Given the description of an element on the screen output the (x, y) to click on. 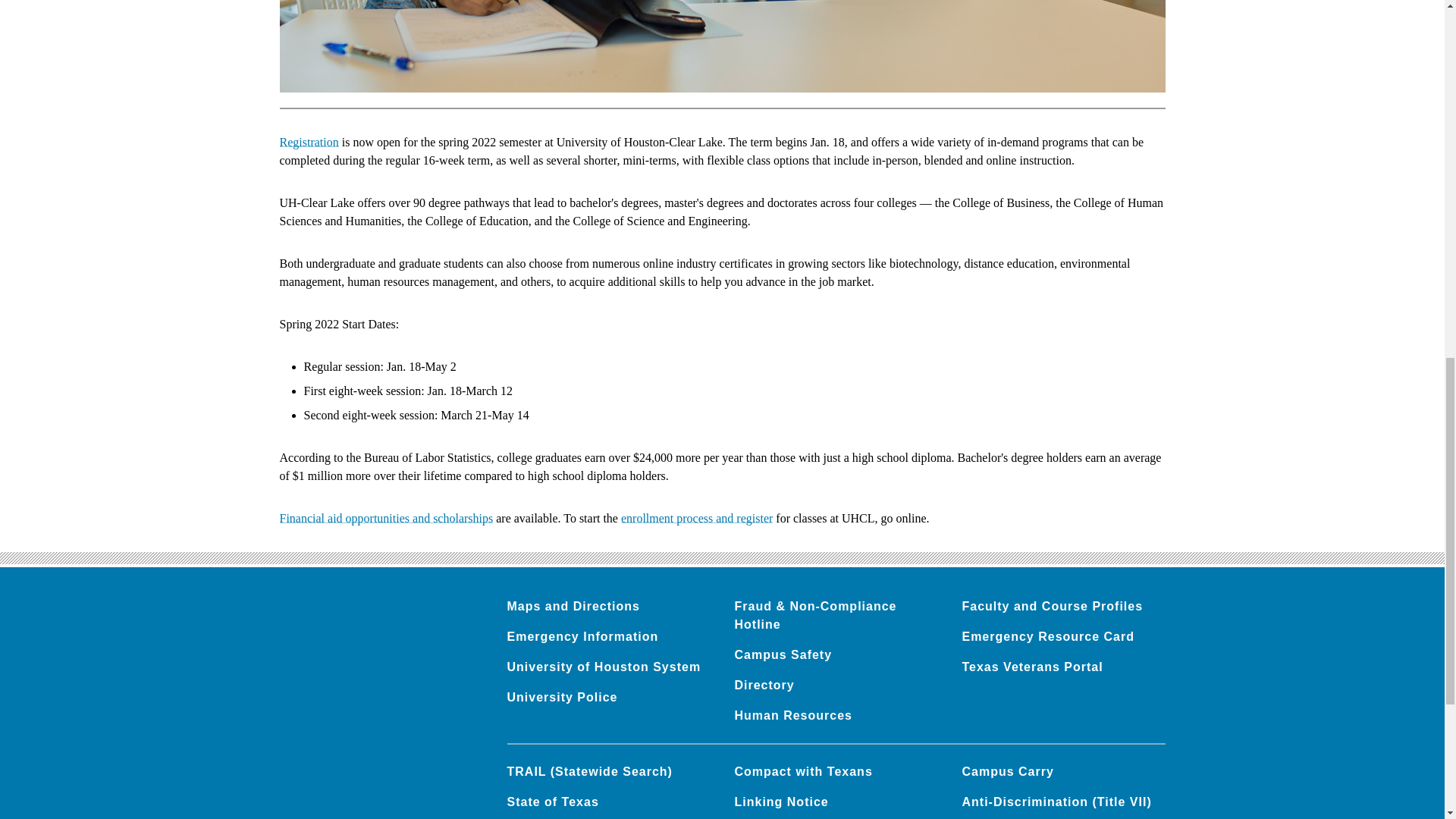
Registration (308, 141)
